Given the description of an element on the screen output the (x, y) to click on. 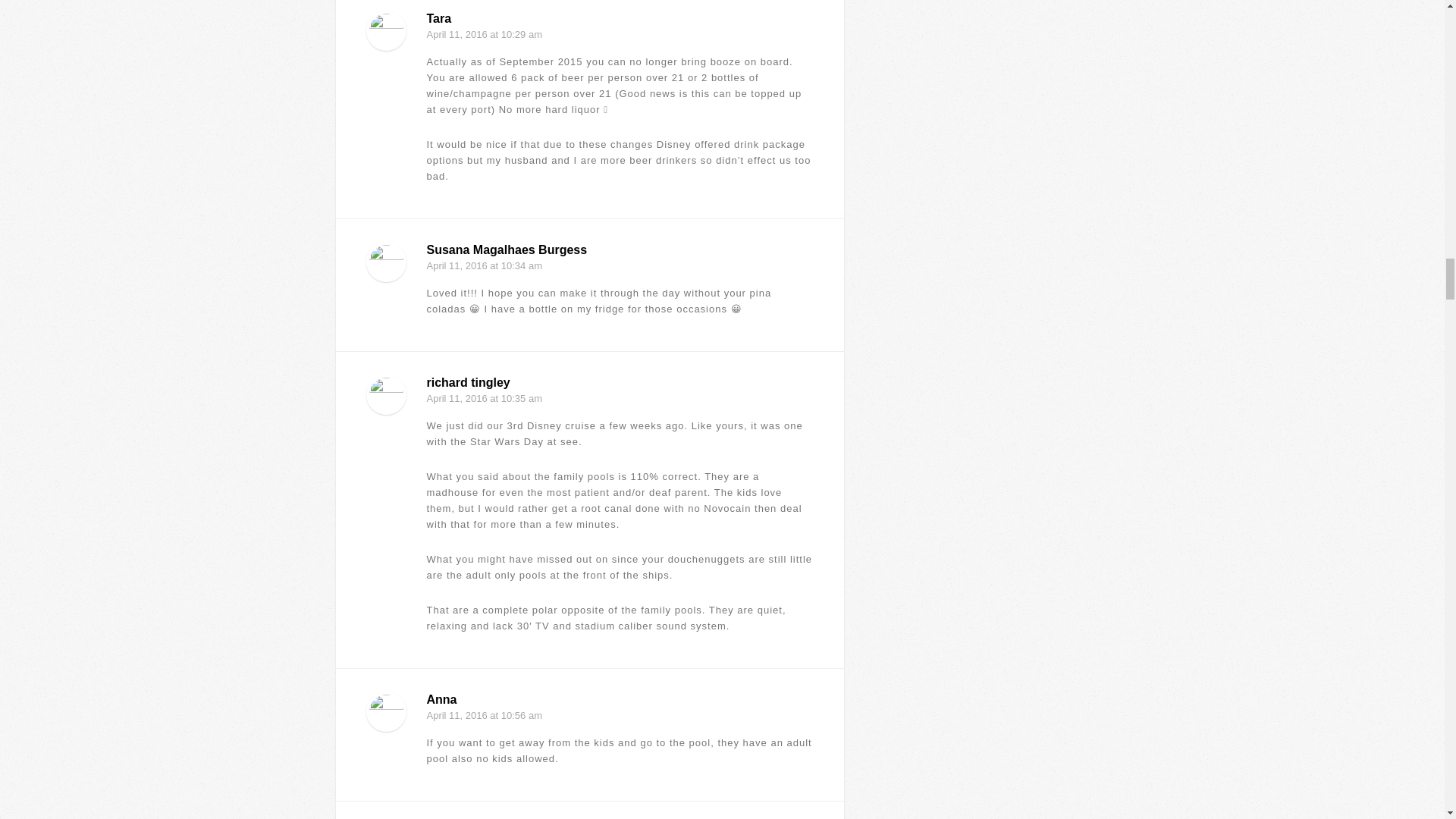
Comment Permalink (804, 323)
April 11, 2016 (456, 34)
Comment Permalink (804, 640)
April 11, 2016 (456, 265)
Comment Permalink (804, 190)
Comment Permalink (804, 773)
Susana Magalhaes Burgess (506, 249)
